Given the description of an element on the screen output the (x, y) to click on. 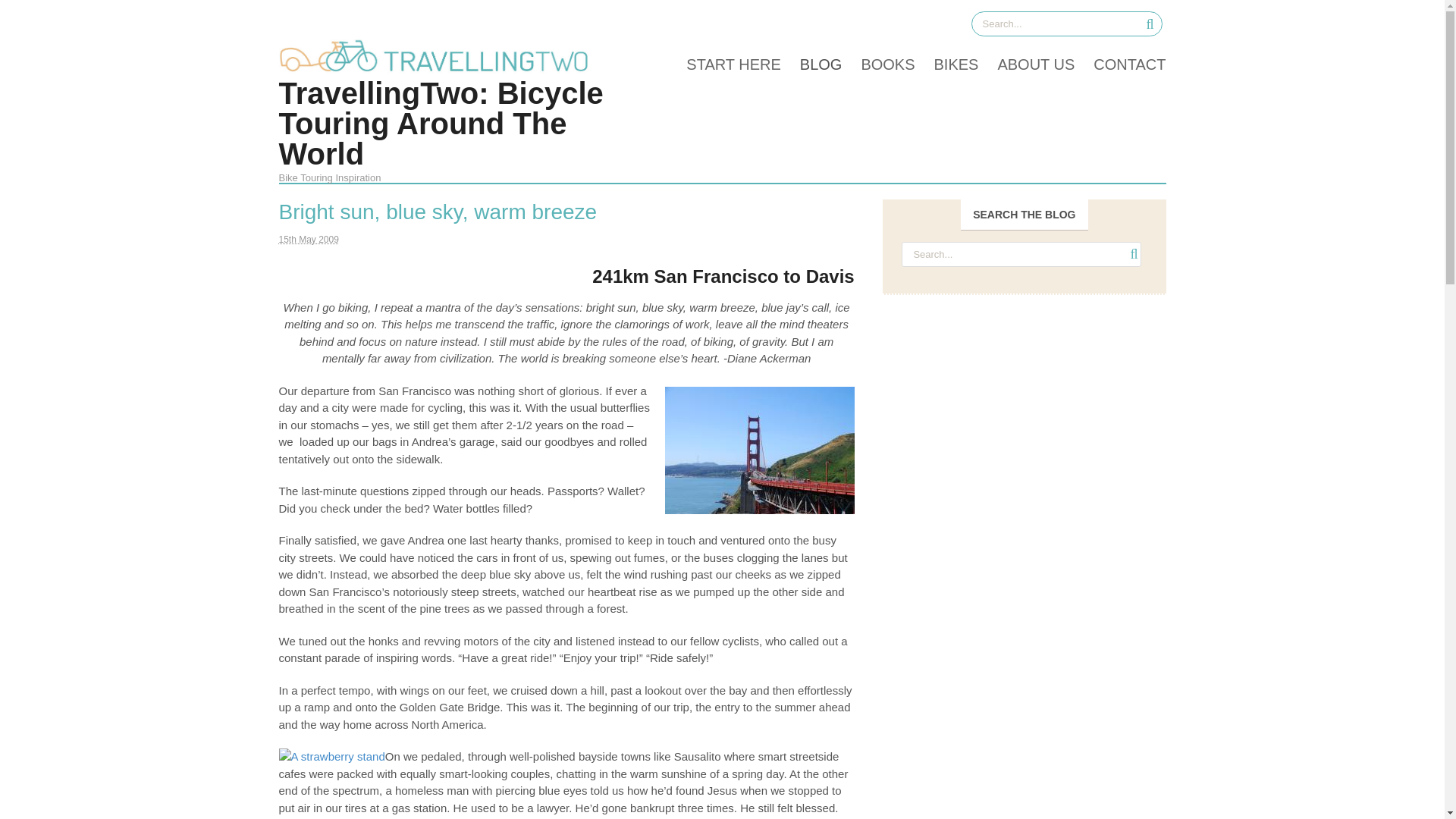
BIKES (946, 64)
BLOG (811, 64)
CONTACT (1120, 64)
A strawberry stand (332, 756)
Search... (1063, 24)
Search... (1021, 253)
BOOKS (877, 64)
START HERE (723, 64)
ABOUT US (1026, 64)
TravellingTwo: Bicycle Touring Around The World (441, 123)
